Given the description of an element on the screen output the (x, y) to click on. 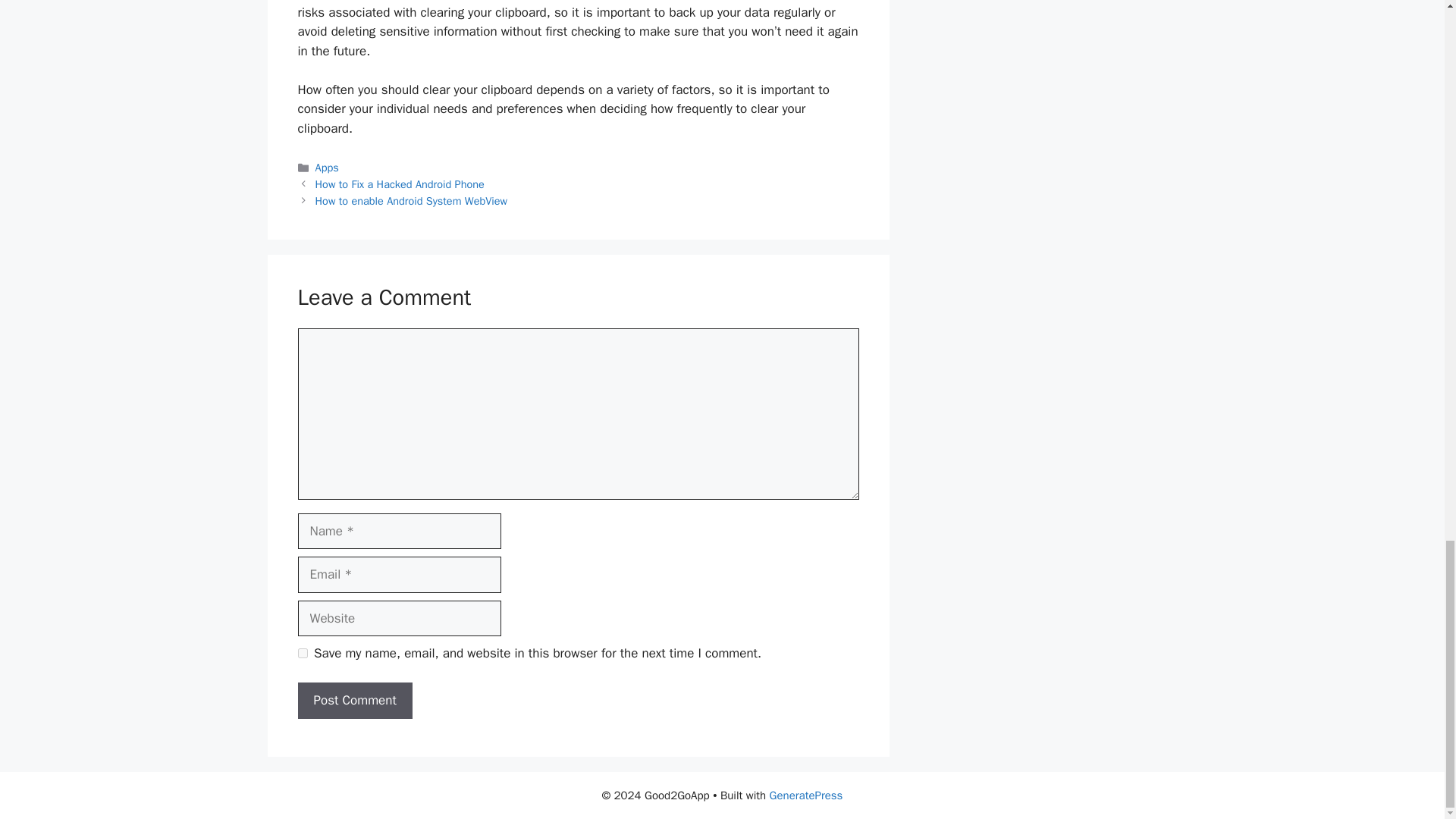
How to Fix a Hacked Android Phone (399, 183)
yes (302, 653)
How to enable Android System WebView (410, 201)
Post Comment (354, 700)
Post Comment (354, 700)
Apps (327, 167)
GeneratePress (806, 795)
